Given the description of an element on the screen output the (x, y) to click on. 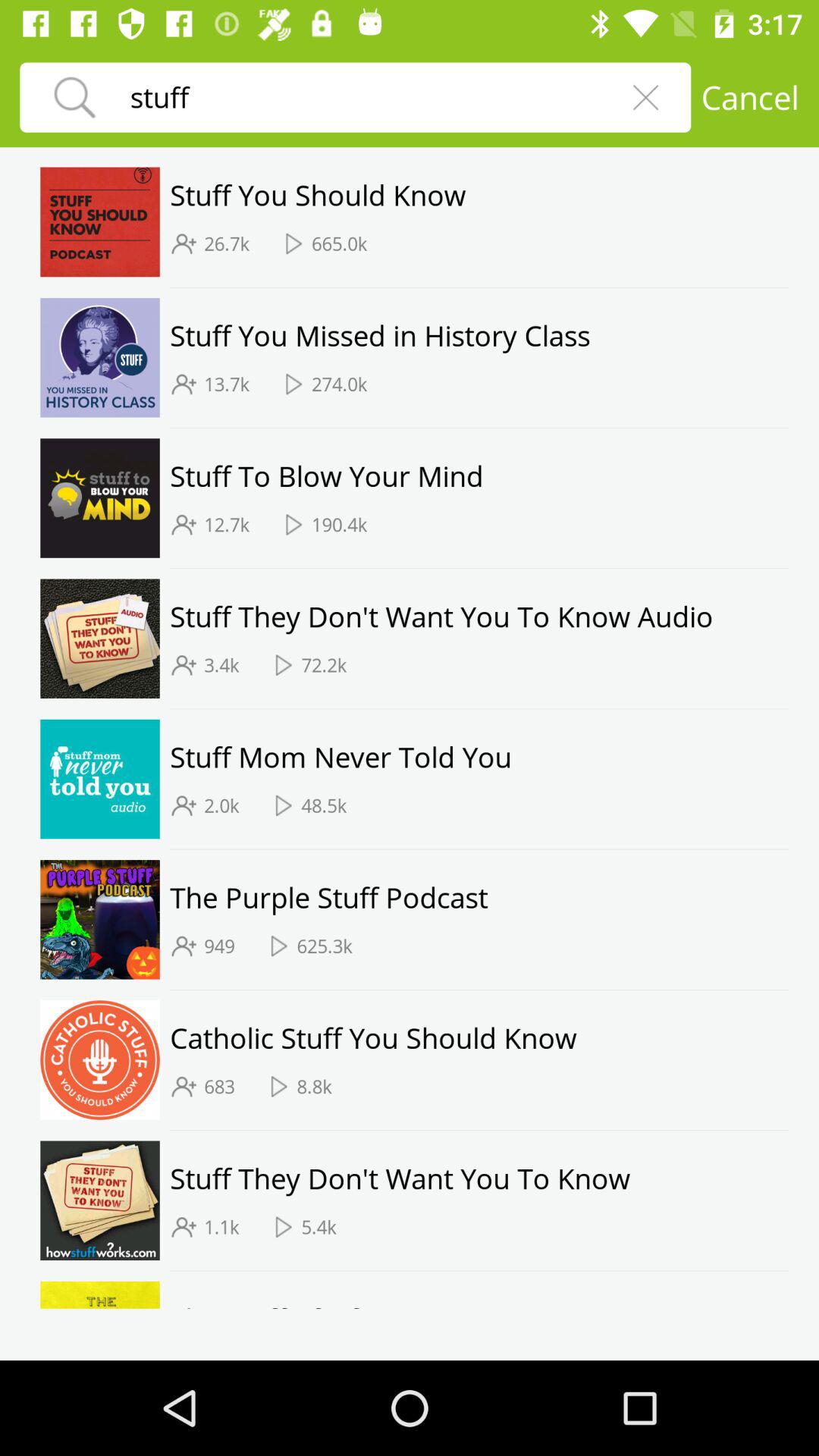
turn on icon above stuff you should icon (750, 97)
